Given the description of an element on the screen output the (x, y) to click on. 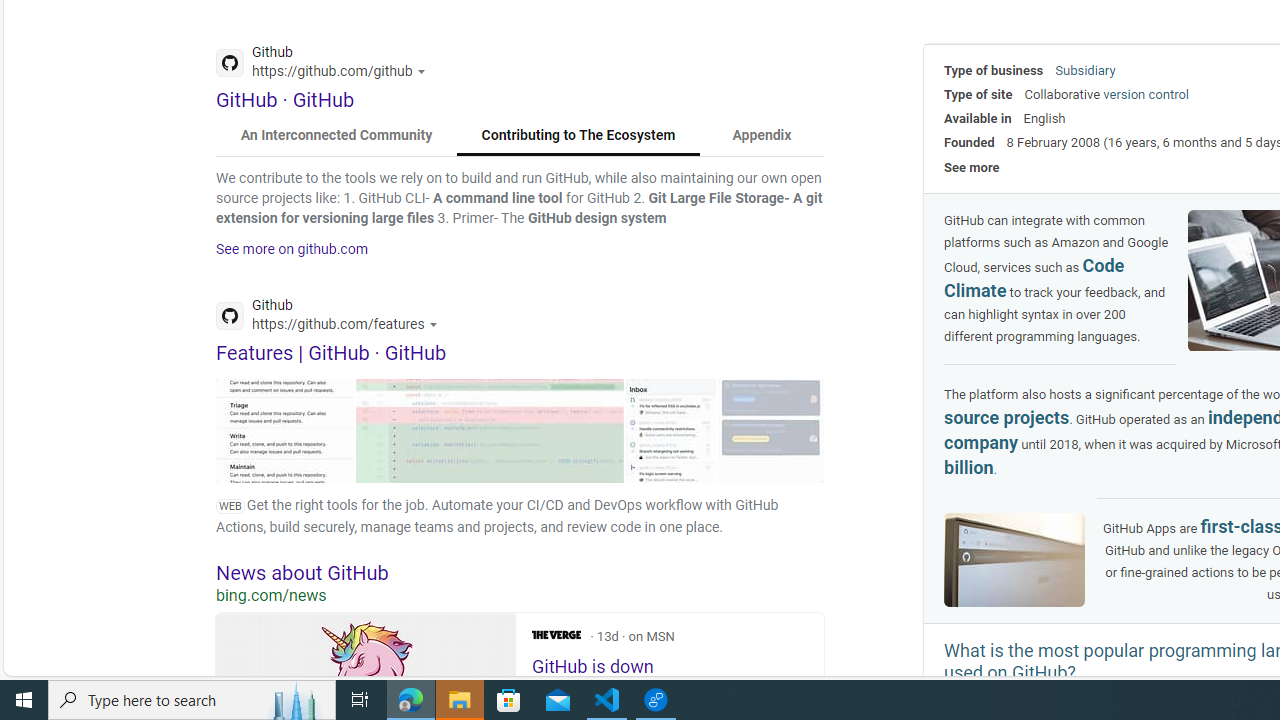
Image of GitHub (1014, 560)
News about GitHub (520, 572)
version control (1146, 94)
View details (771, 430)
Global web icon (229, 316)
The Verge on MSN.com (556, 634)
Founded (969, 142)
Image of GitHub (1014, 559)
bing.com/news (520, 595)
Github (332, 317)
